Given the description of an element on the screen output the (x, y) to click on. 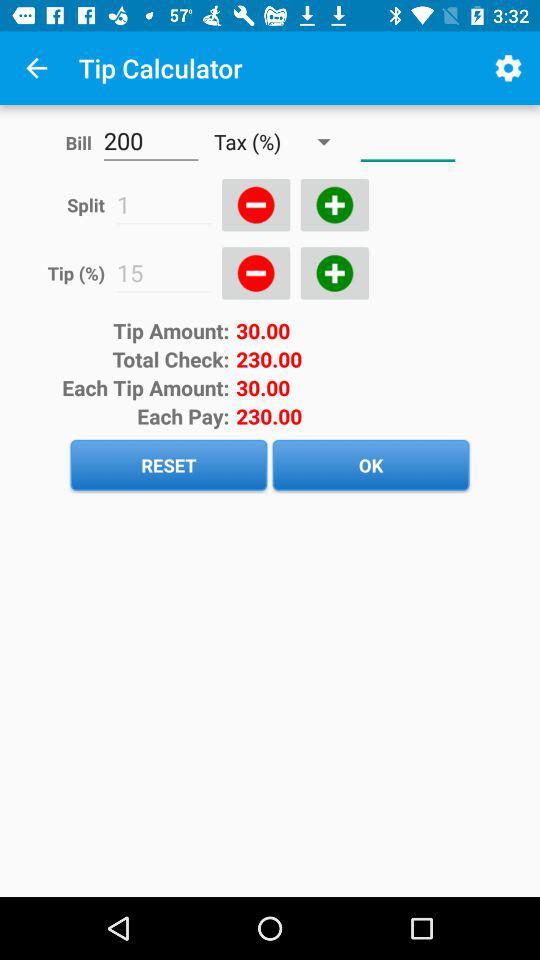
minus (255, 205)
